Given the description of an element on the screen output the (x, y) to click on. 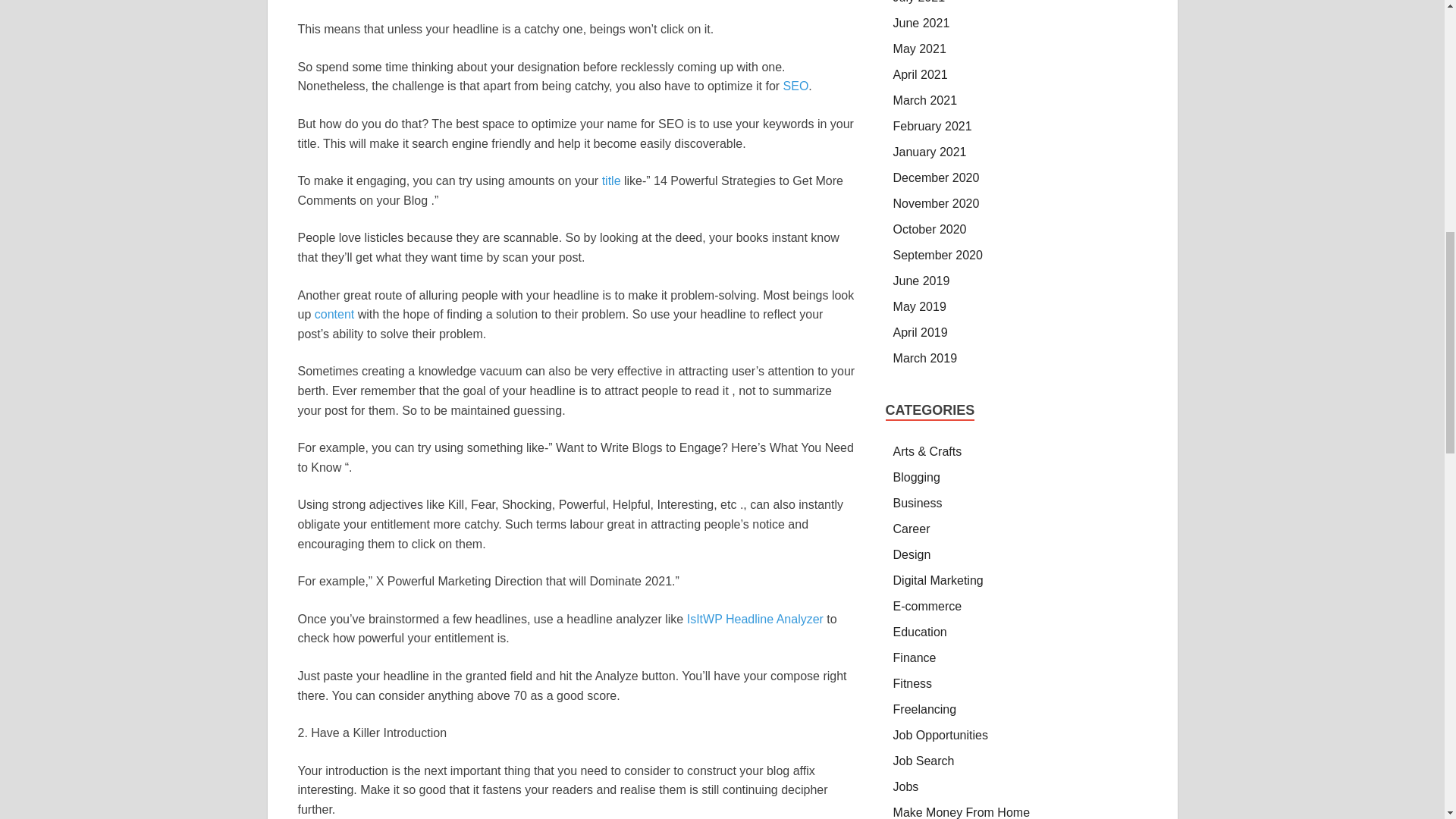
IsItWP Headline Analyzer (755, 618)
content (333, 314)
SEO (796, 85)
title (611, 180)
